Given the description of an element on the screen output the (x, y) to click on. 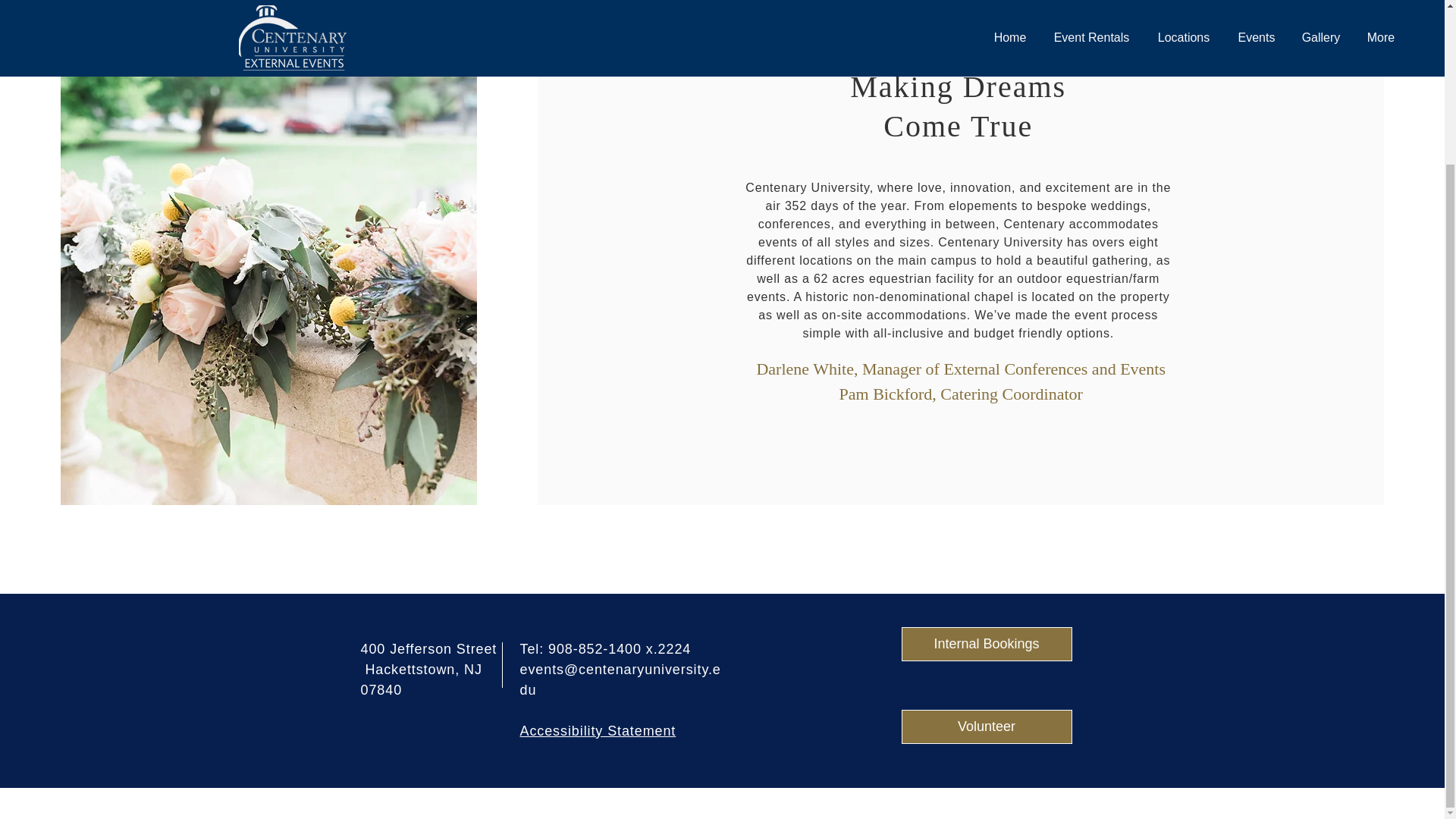
Accessibility Statement (598, 730)
Volunteer (986, 726)
Internal Bookings (986, 643)
